Given the description of an element on the screen output the (x, y) to click on. 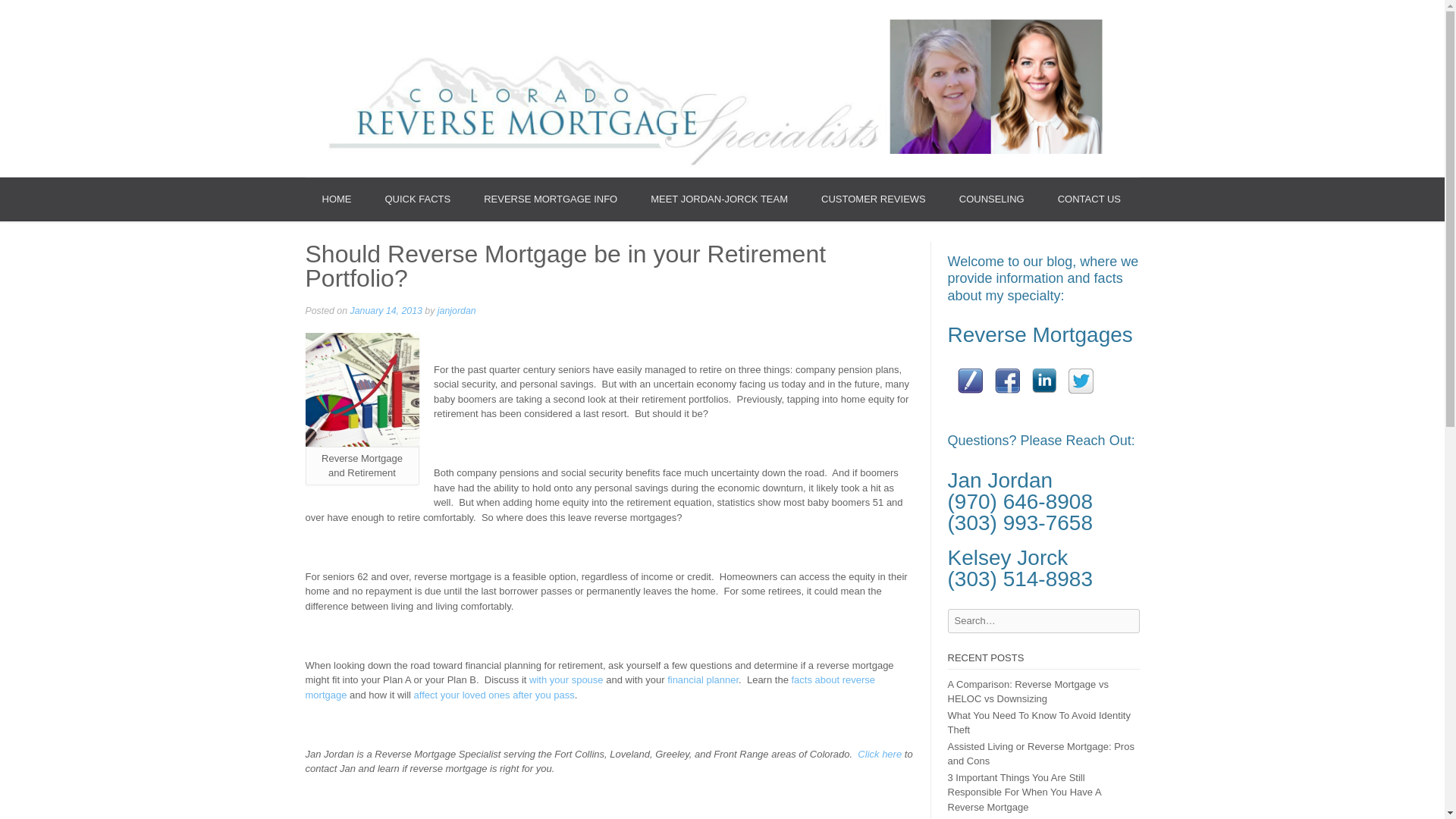
QUICK FACTS (417, 199)
affect your loved ones after you pass (492, 695)
January 14, 2013 (386, 310)
facts about reverse mortgage (589, 687)
COUNSELING (991, 199)
Reverse Mortgage Fort Collins Colorado (361, 389)
CONTACT US (1089, 199)
MEET JORDAN-JORCK TEAM (719, 199)
CUSTOMER REVIEWS (873, 199)
Search for: (1043, 621)
